Given the description of an element on the screen output the (x, y) to click on. 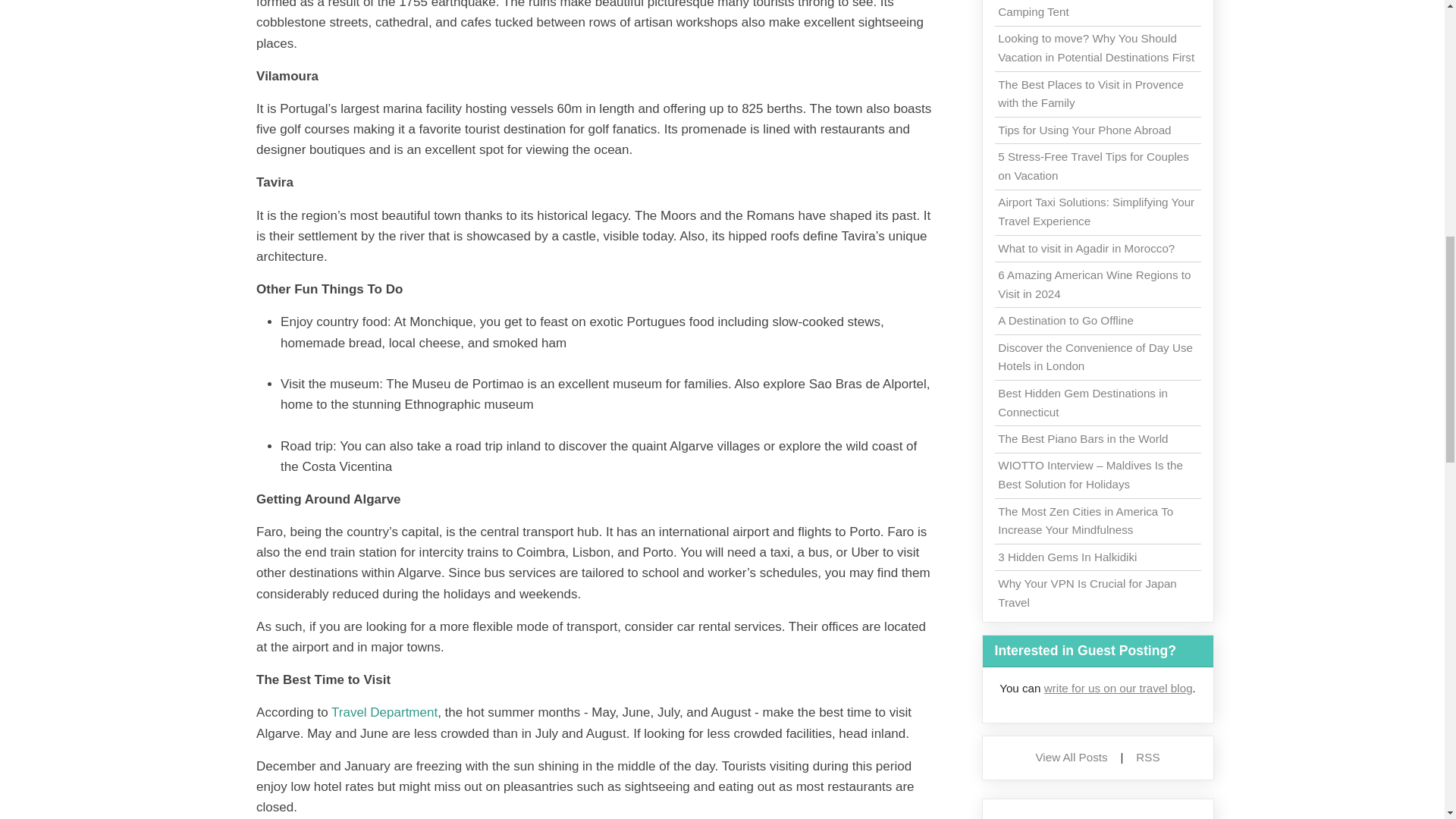
The Best Places to Visit in Provence with the Family (1090, 93)
Key Attributes of an Outstanding Camping Tent (1080, 9)
Travel Department (384, 712)
Tips for Using Your Phone Abroad (1083, 129)
